Given the description of an element on the screen output the (x, y) to click on. 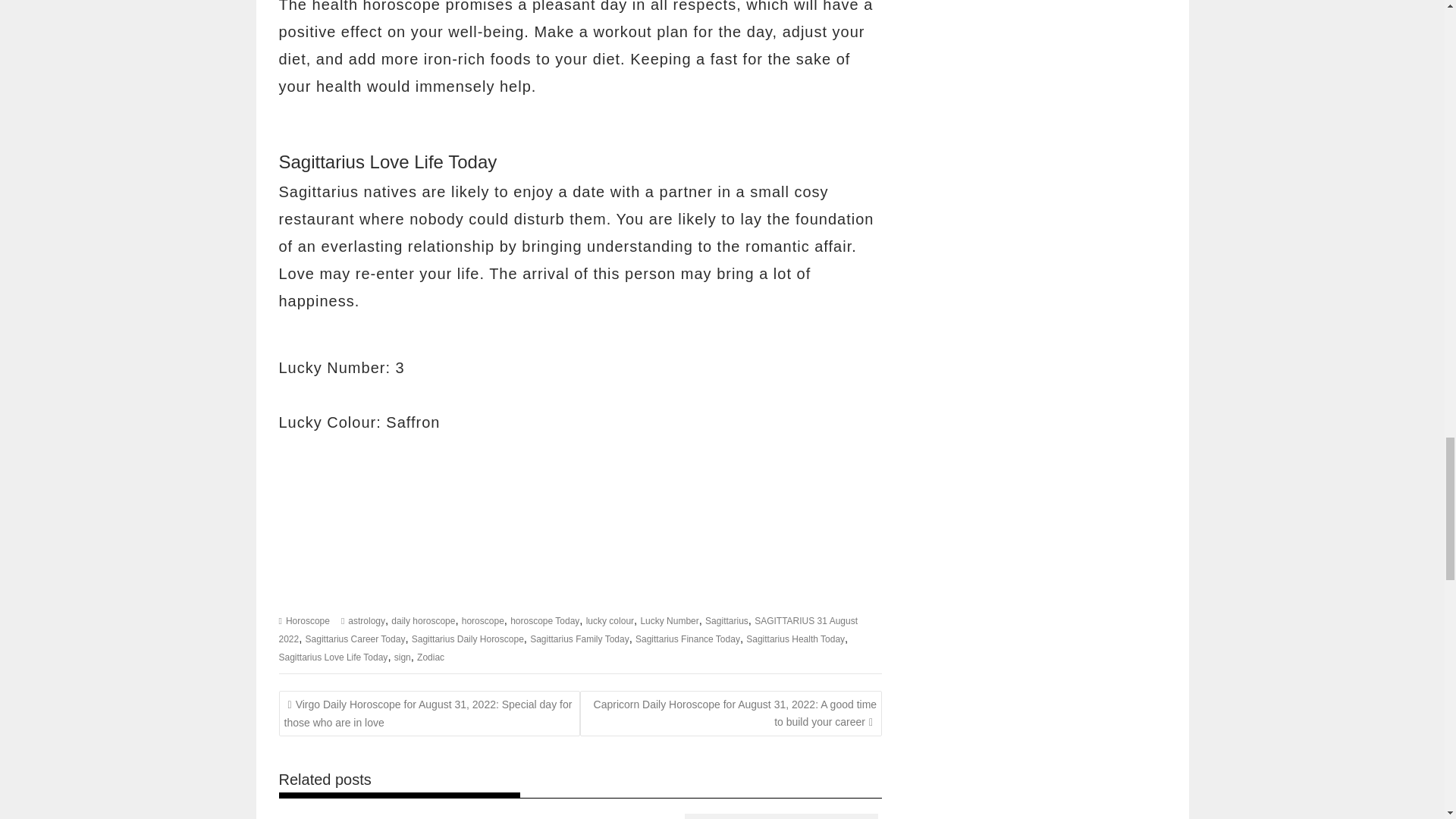
Advertisement (580, 522)
